Given the description of an element on the screen output the (x, y) to click on. 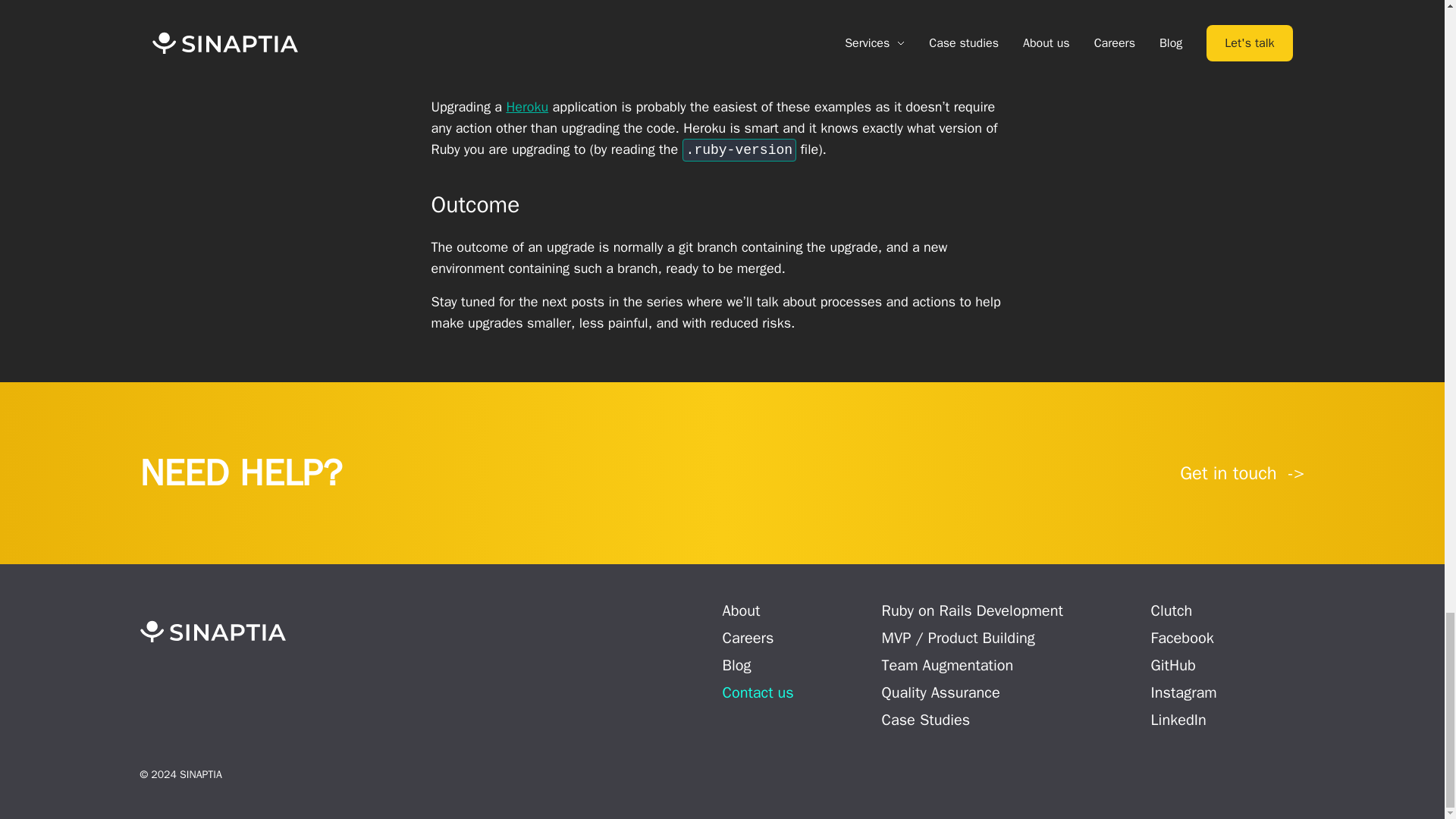
Ruby on Rails Development (972, 610)
Contact us (757, 692)
Careers (747, 637)
About (741, 610)
Blog (736, 665)
Heroku (526, 106)
